Given the description of an element on the screen output the (x, y) to click on. 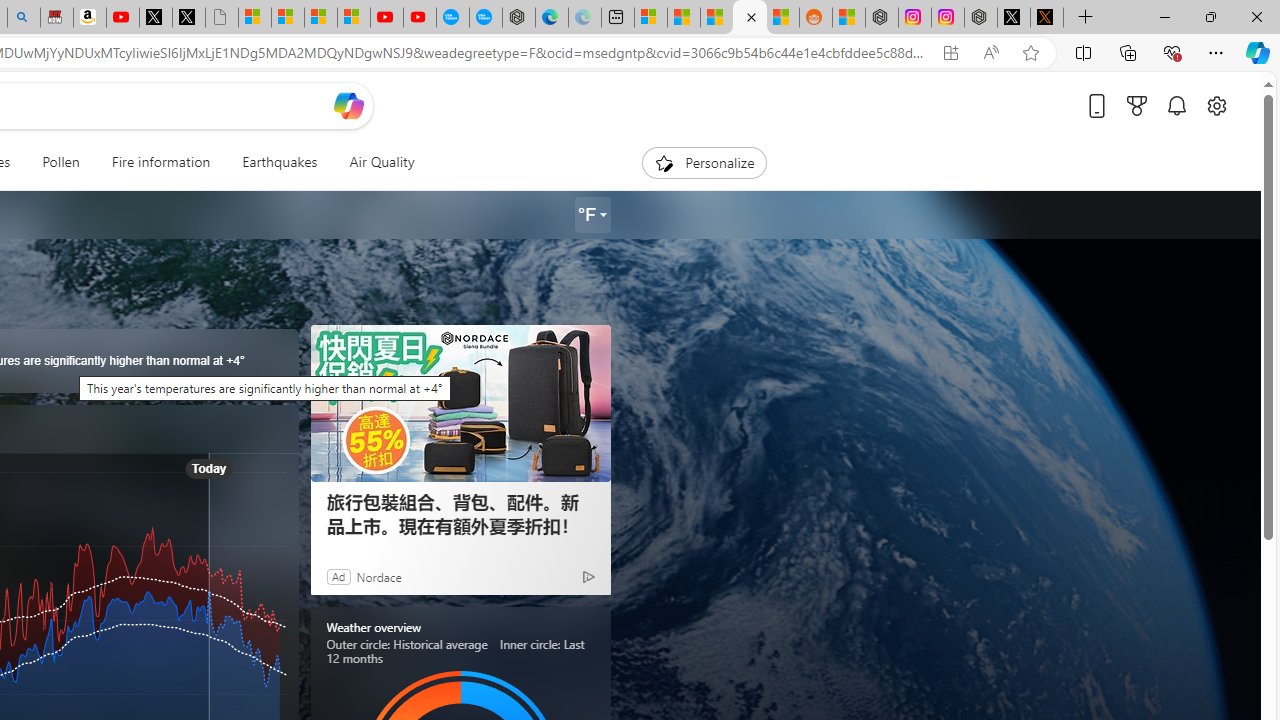
Copilot (Ctrl+Shift+.) (1258, 52)
Earthquakes (279, 162)
Close (1256, 16)
Nordace (378, 576)
Air Quality (373, 162)
Collections (1128, 52)
Weather settings (591, 215)
Notifications (1176, 105)
Ad (338, 576)
Settings and more (Alt+F) (1215, 52)
Nordace - Nordace has arrived Hong Kong (519, 17)
